Given the description of an element on the screen output the (x, y) to click on. 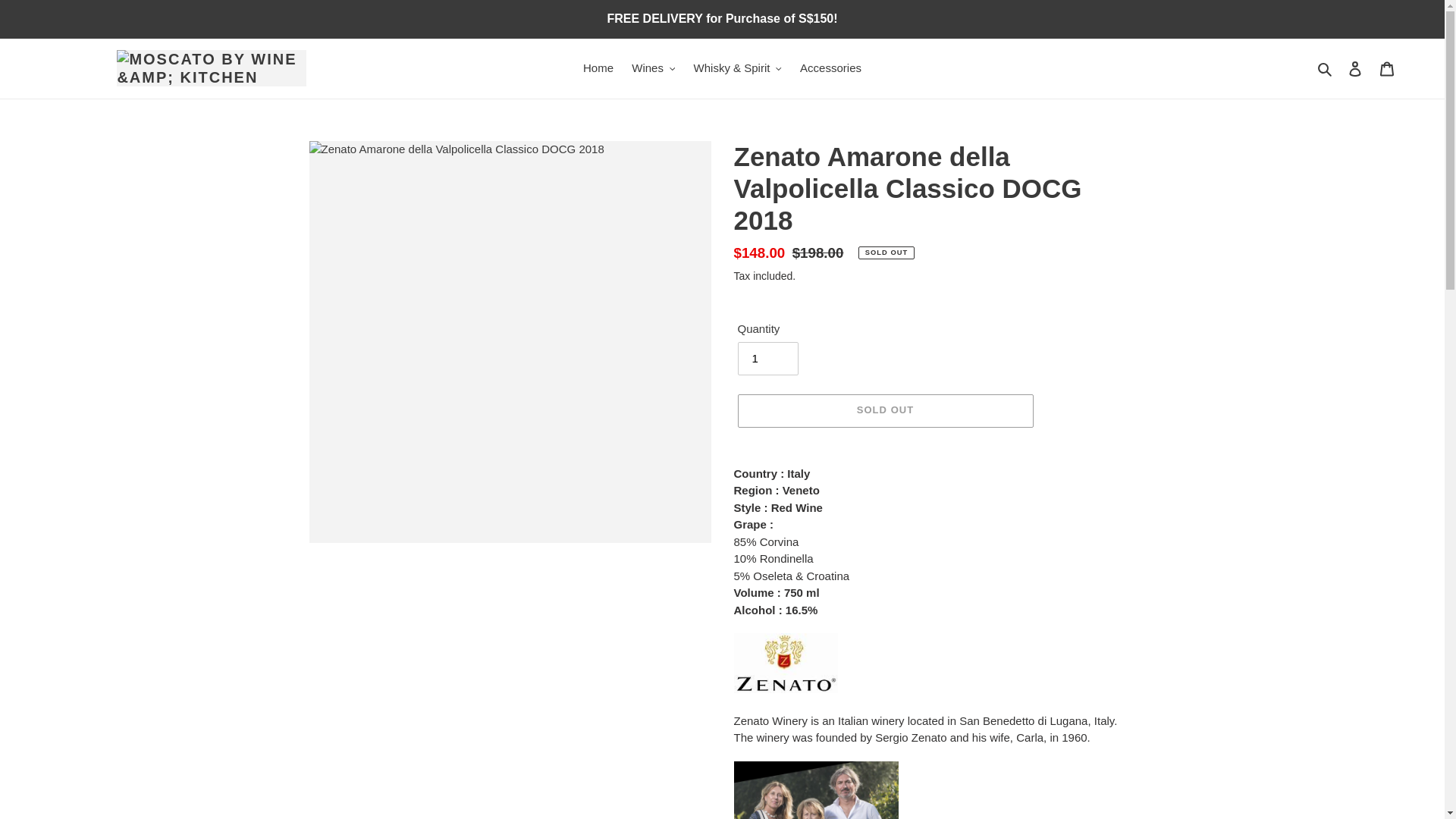
1 (766, 358)
Home (598, 68)
Wines (653, 68)
